Given the description of an element on the screen output the (x, y) to click on. 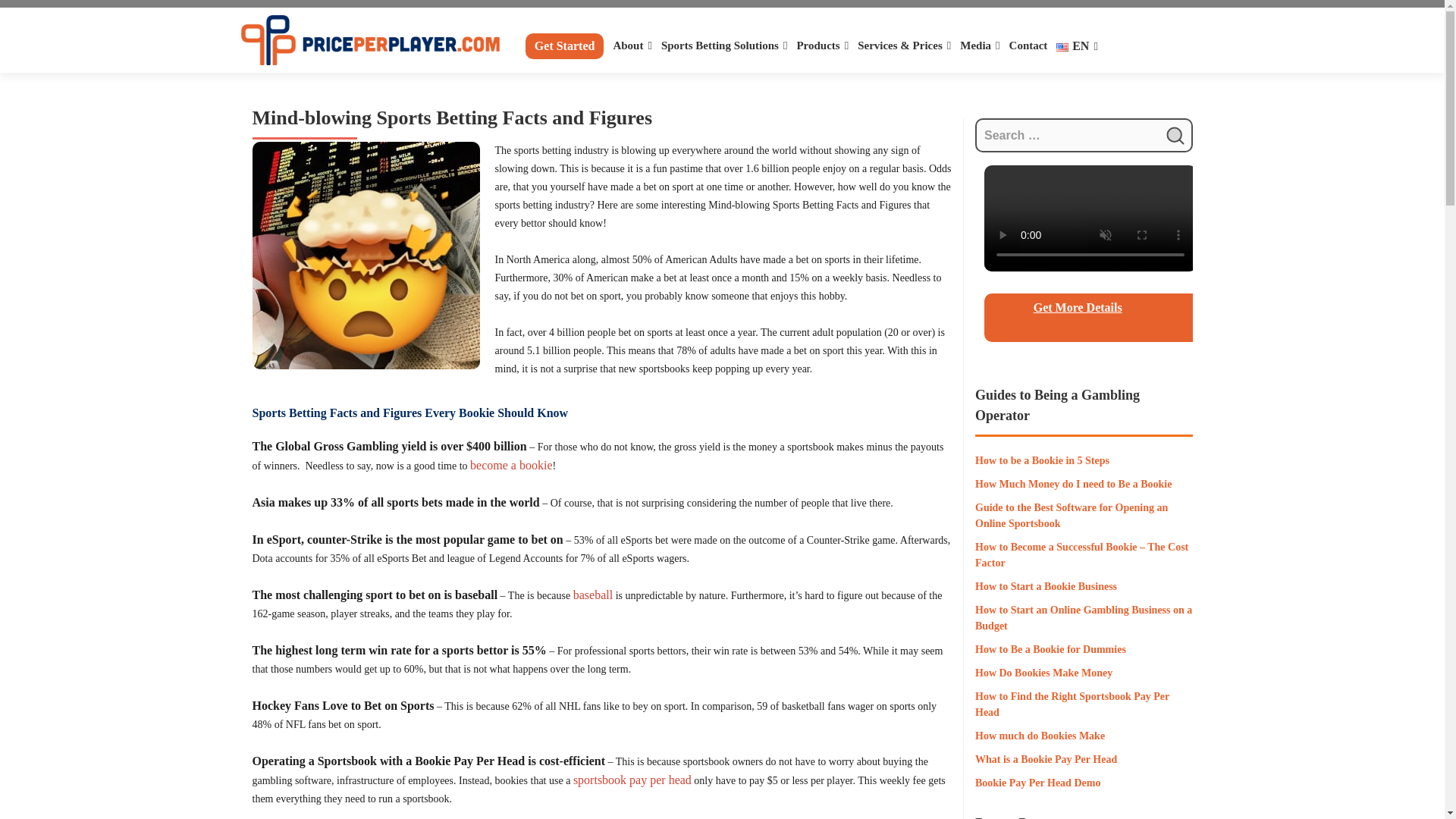
About (632, 45)
Products (822, 45)
Search (1174, 135)
Sports Betting Solutions (724, 45)
Media (978, 45)
Get Started (564, 45)
Search (1174, 135)
Learn About PricePerPlayer.com (632, 45)
